Given the description of an element on the screen output the (x, y) to click on. 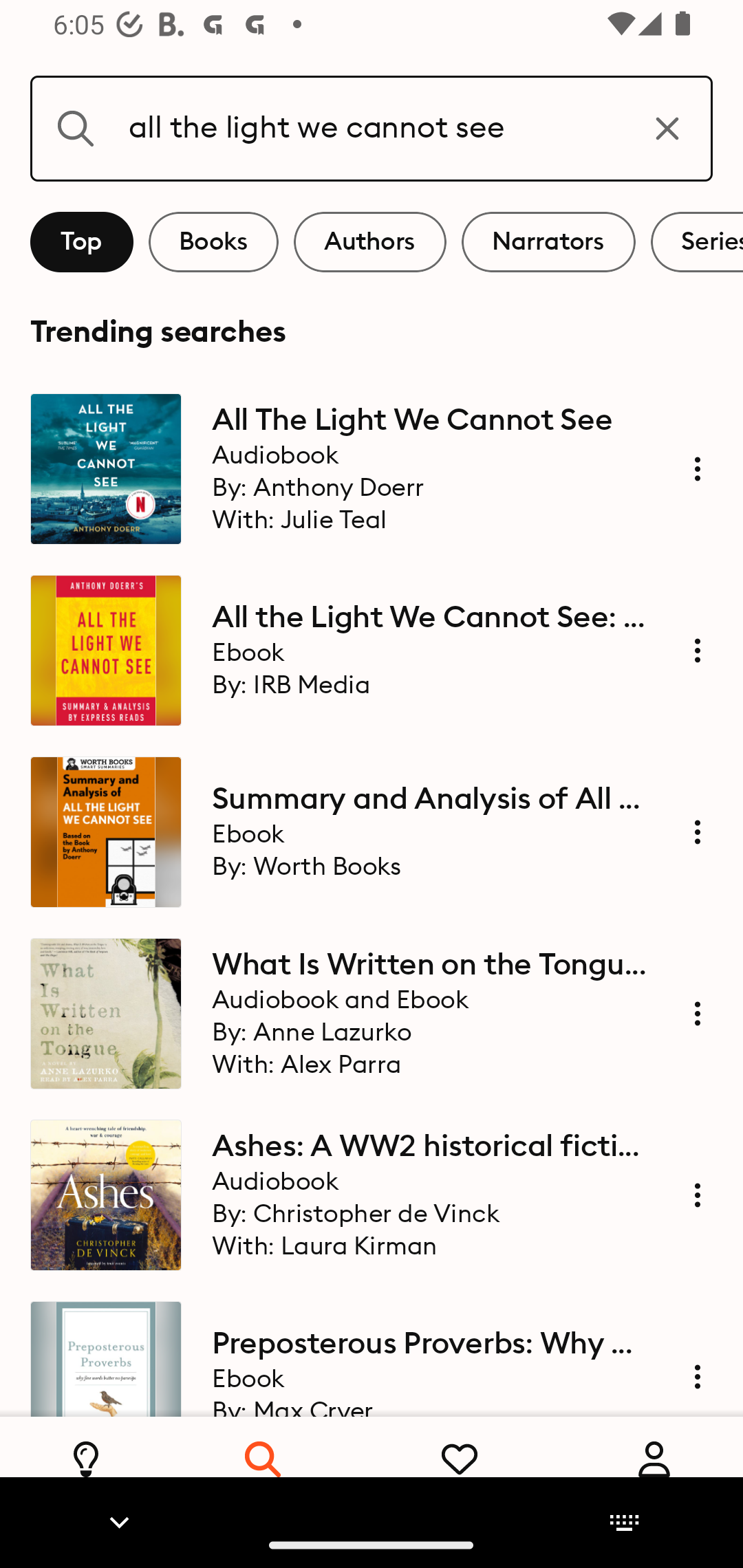
all the light we cannot see (371, 128)
Top (81, 241)
Books (213, 241)
Authors (369, 241)
Narrators (548, 241)
Series (696, 241)
